Given the description of an element on the screen output the (x, y) to click on. 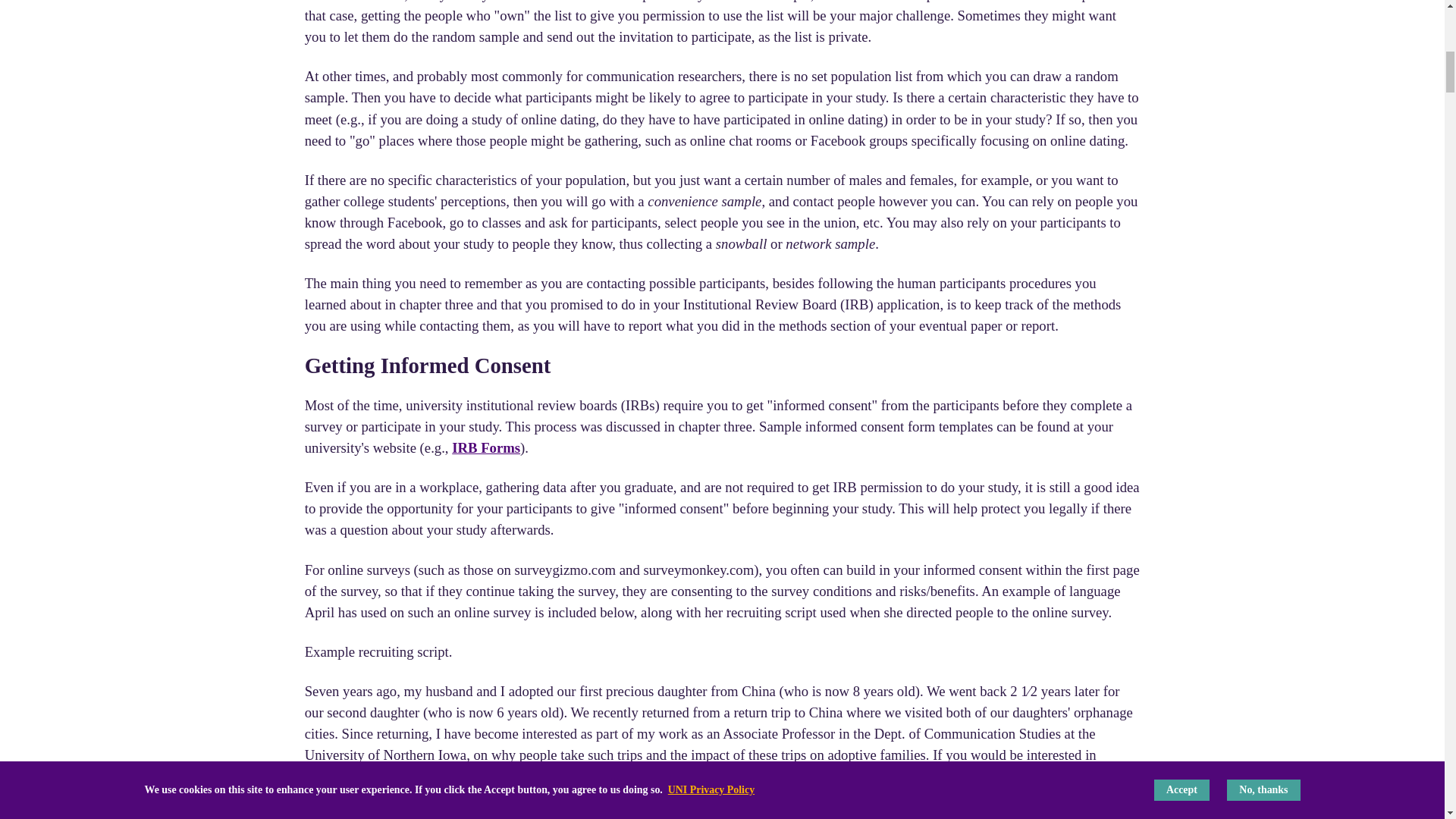
IRB Forms (485, 447)
